Given the description of an element on the screen output the (x, y) to click on. 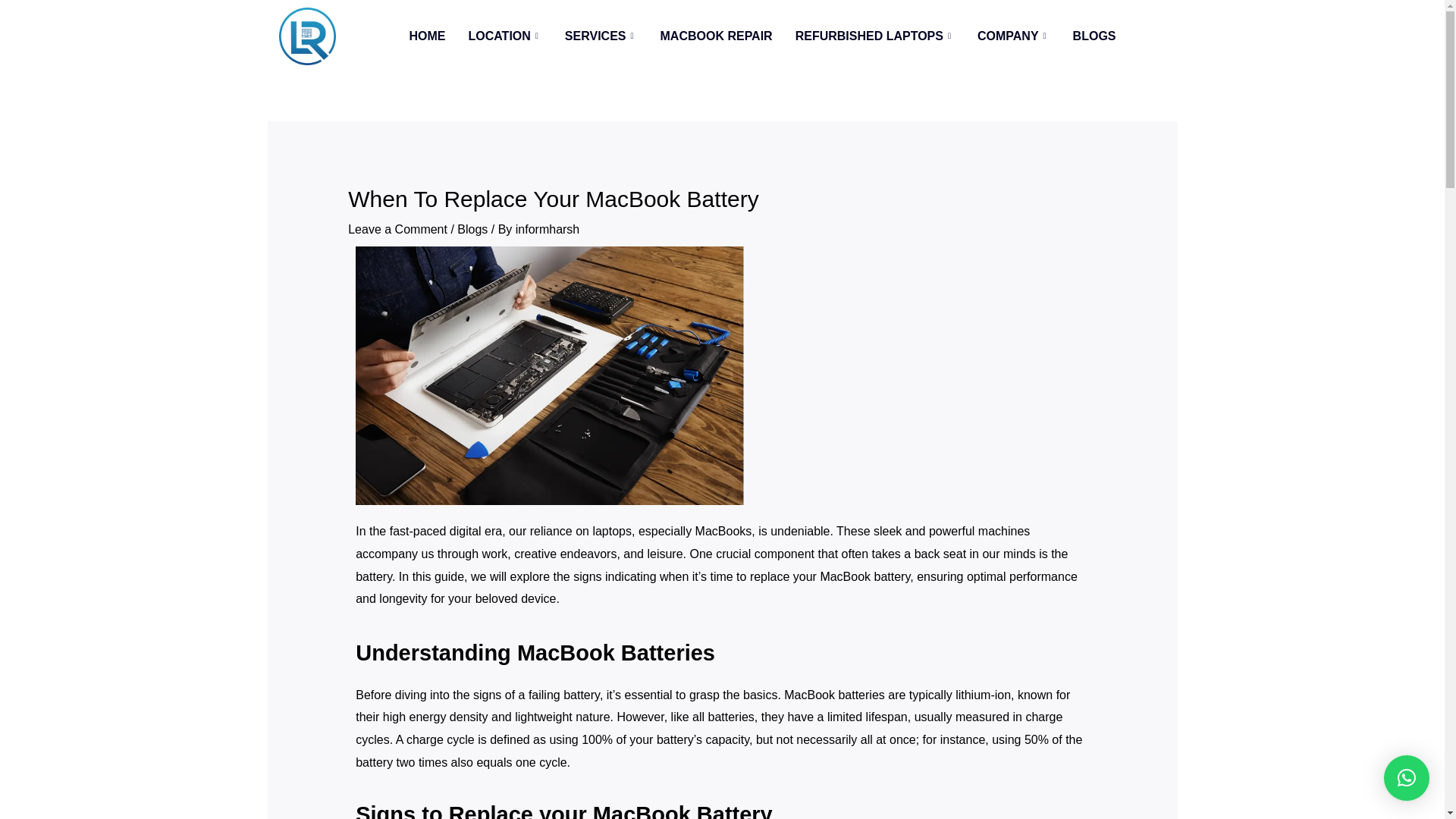
HOME (427, 35)
View all posts by informharsh (547, 228)
LOCATION (505, 35)
SERVICES (601, 35)
